Given the description of an element on the screen output the (x, y) to click on. 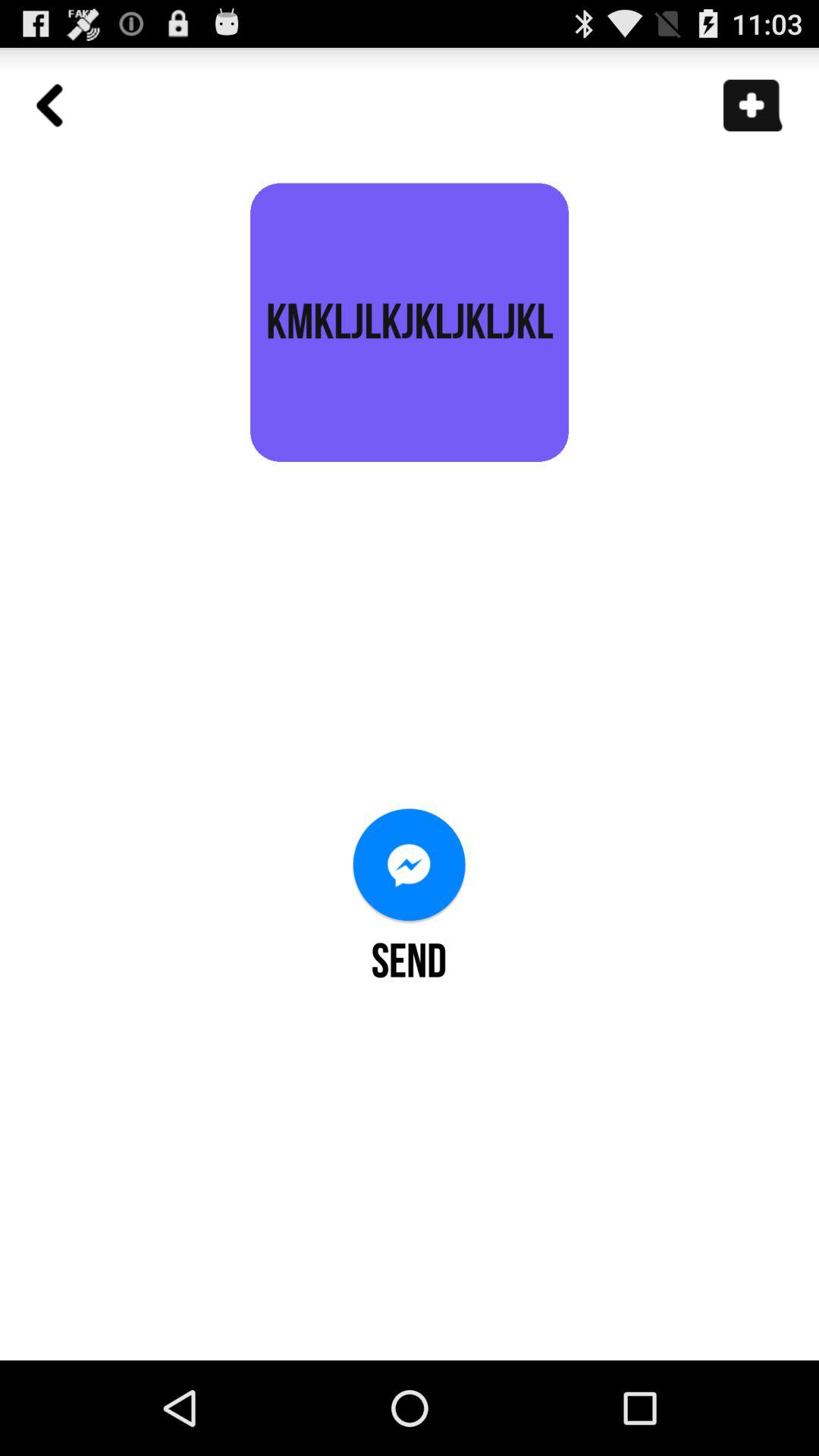
go back to the last page (57, 113)
